Given the description of an element on the screen output the (x, y) to click on. 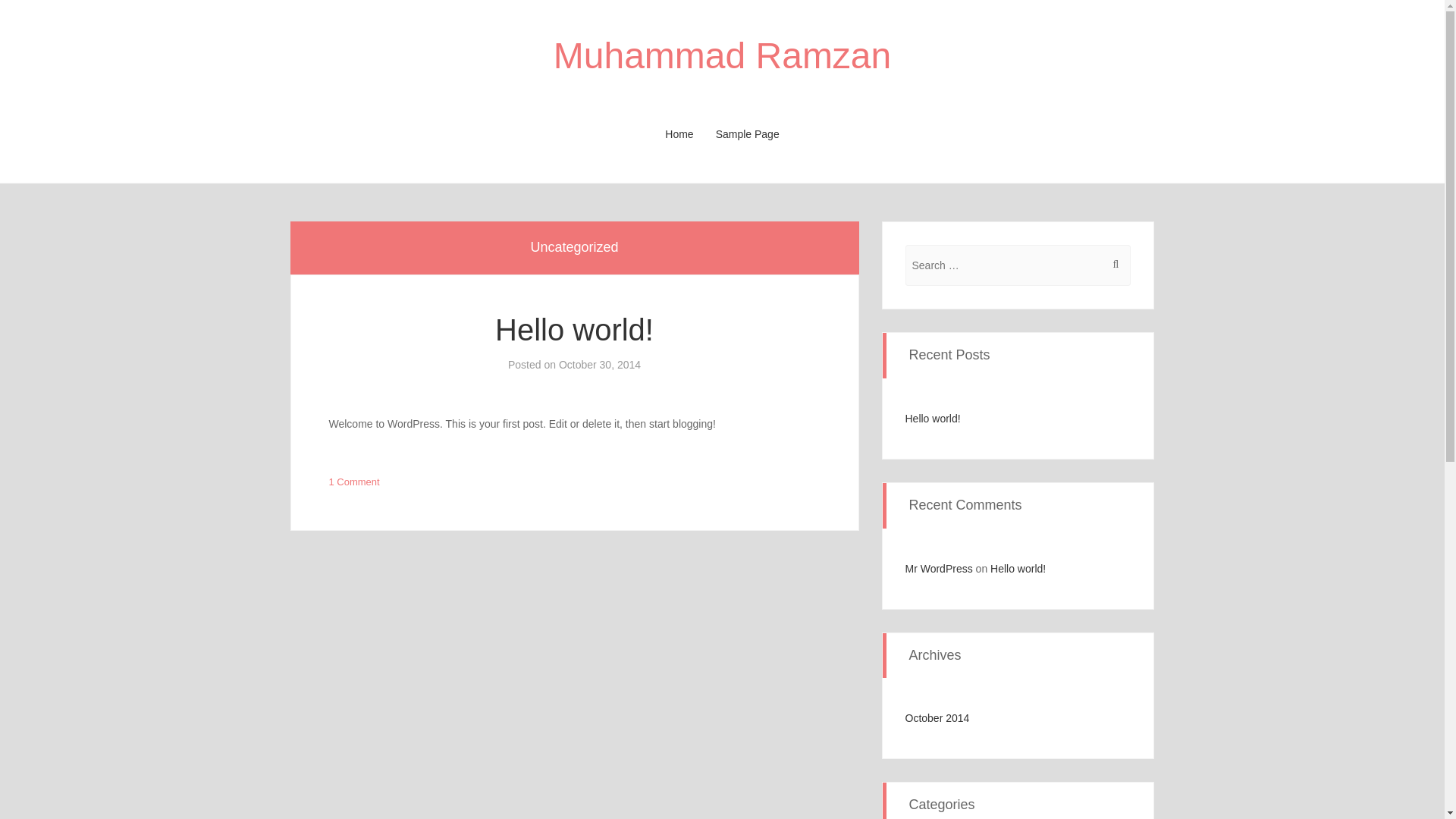
Muhammad Ramzan (722, 56)
October 2014 (937, 717)
1 Comment (354, 481)
Muhammad Ramzan (722, 56)
Hello world! (932, 418)
Hello world! (574, 329)
Skip to content (324, 133)
October 30, 2014 (599, 364)
Home (678, 133)
Sample Page (747, 133)
